Given the description of an element on the screen output the (x, y) to click on. 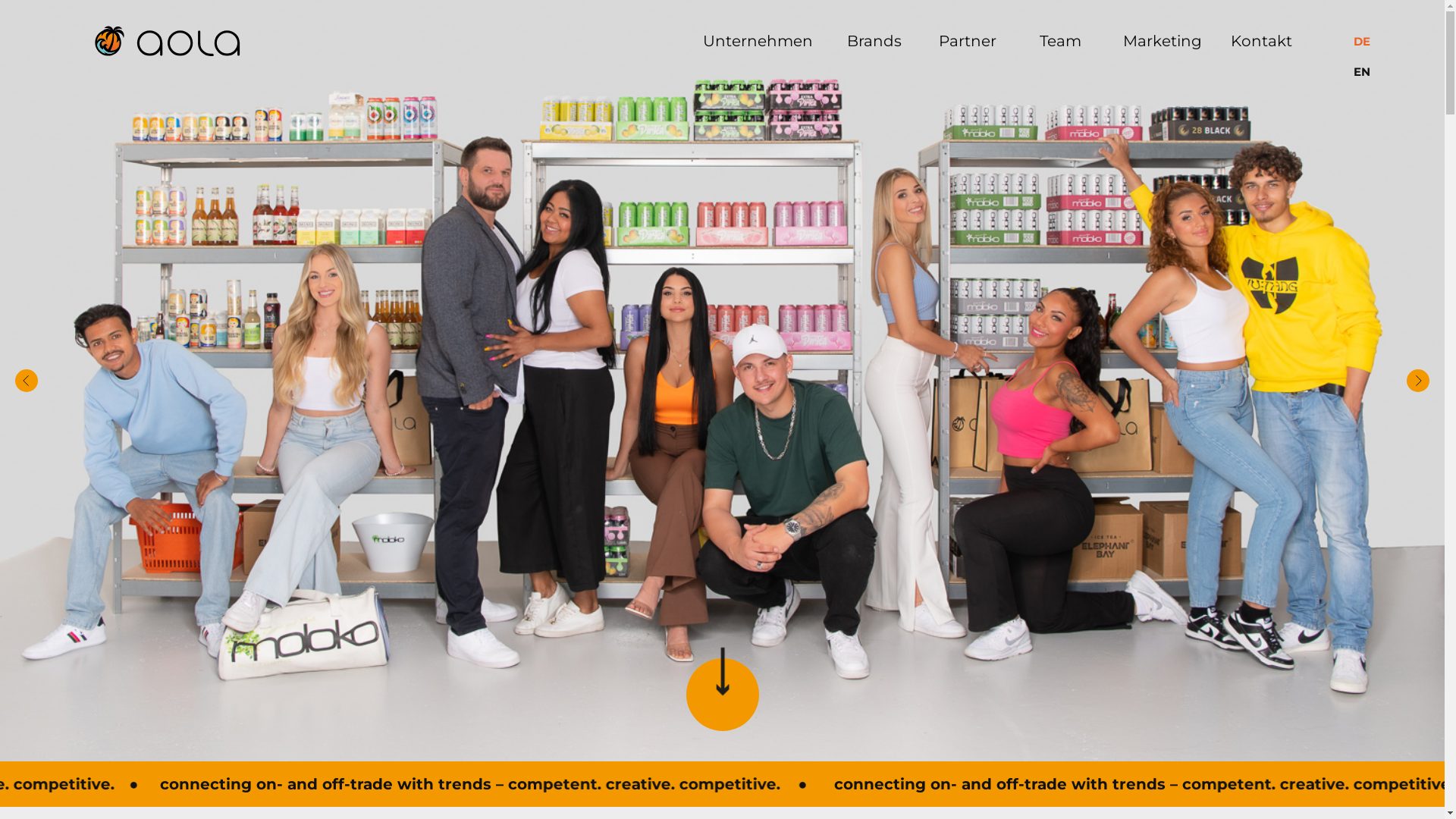
EN Element type: text (1376, 71)
Marketing Element type: text (1162, 40)
Team Element type: text (1060, 40)
Partner Element type: text (967, 40)
Unternehmen Element type: text (757, 40)
DE Element type: text (1376, 41)
Kontakt Element type: text (1261, 40)
Brands Element type: text (873, 40)
